Given the description of an element on the screen output the (x, y) to click on. 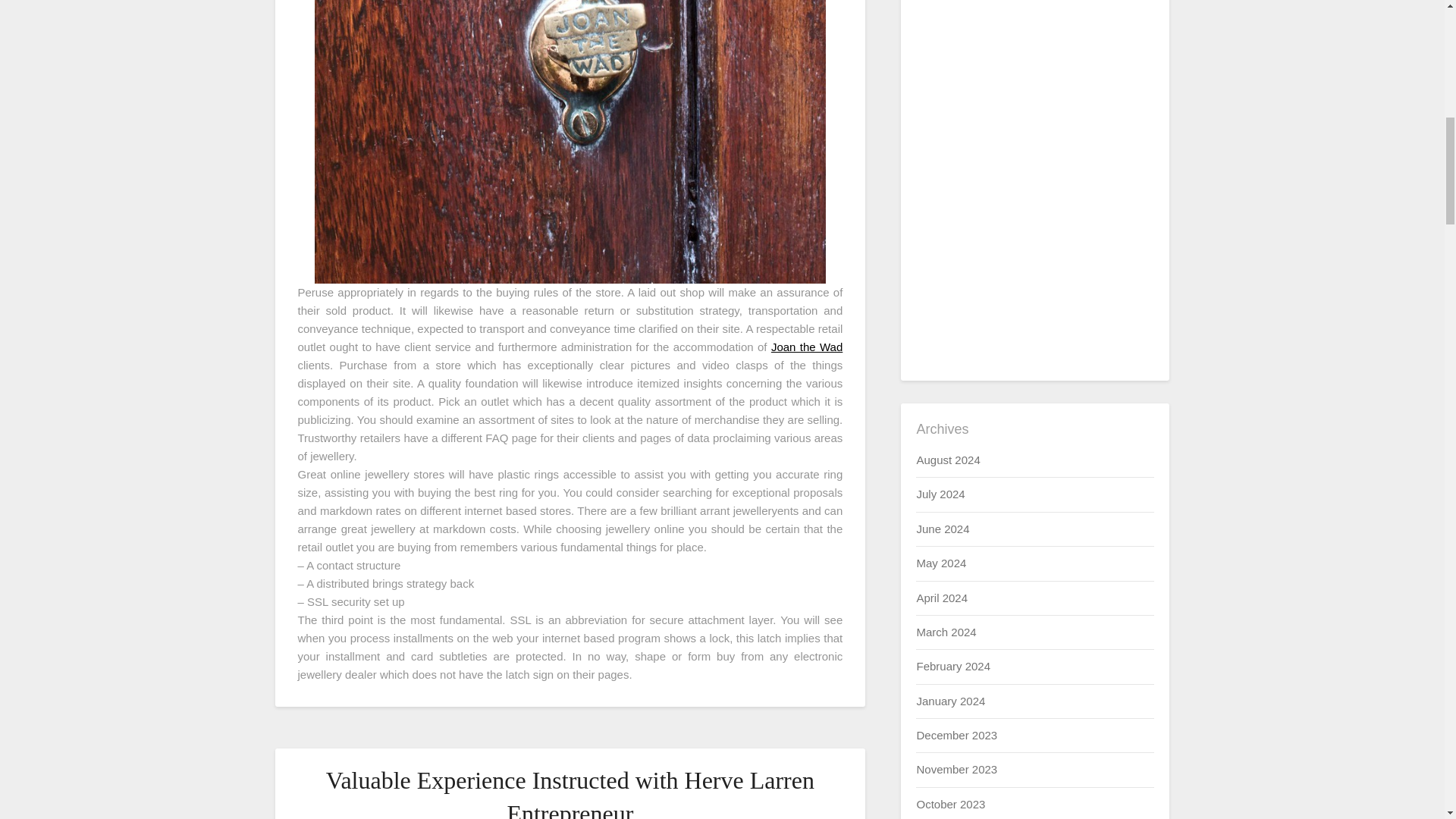
Joan the Wad (807, 346)
August 2024 (947, 459)
July 2024 (939, 493)
